Given the description of an element on the screen output the (x, y) to click on. 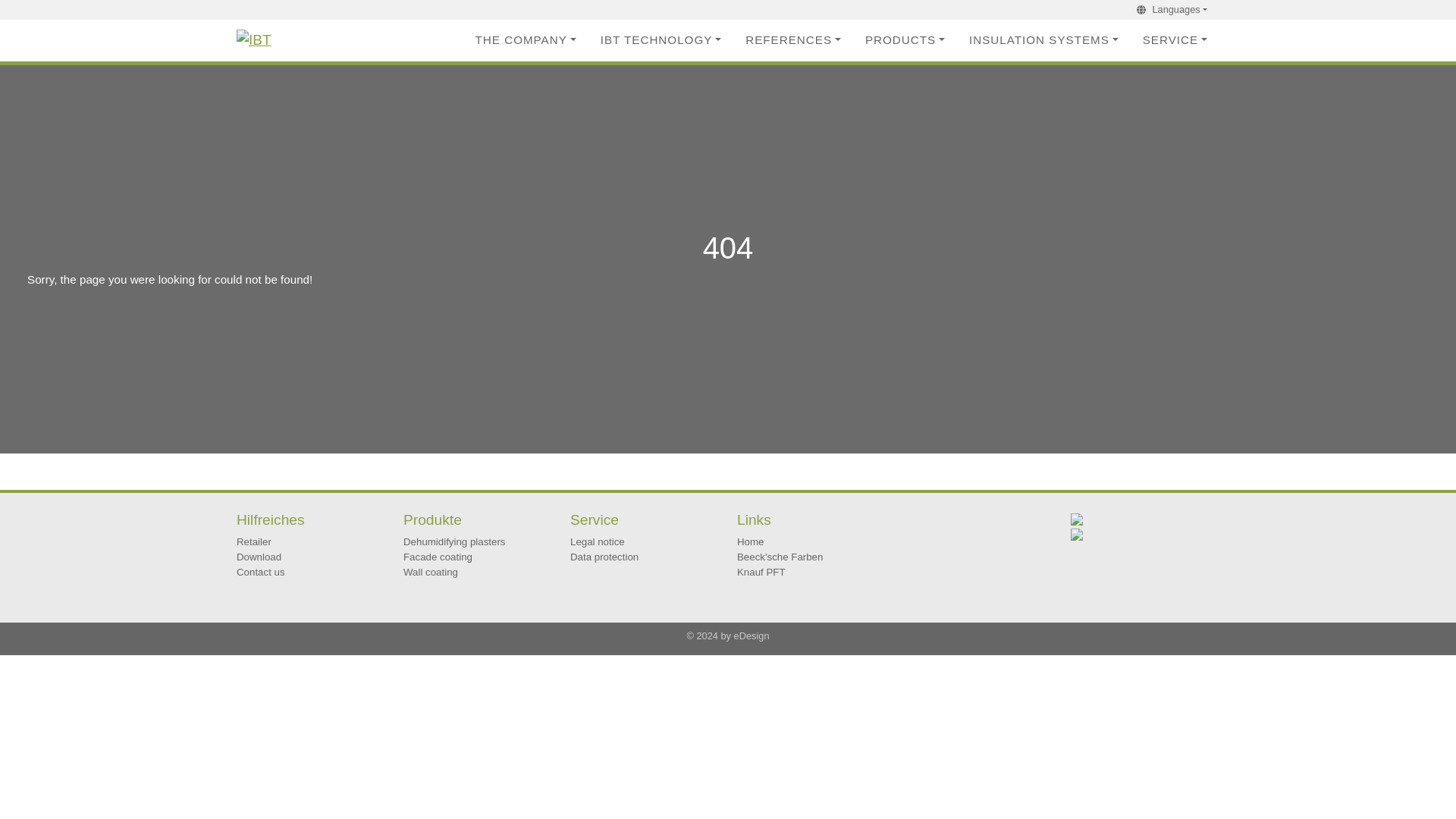
INSULATION SYSTEMS (1043, 40)
THE COMPANY (525, 40)
SERVICE (1175, 40)
IBT TECHNOLOGY (660, 40)
PRODUCTS (904, 40)
REFERENCES (793, 40)
Languages (1185, 9)
